Given the description of an element on the screen output the (x, y) to click on. 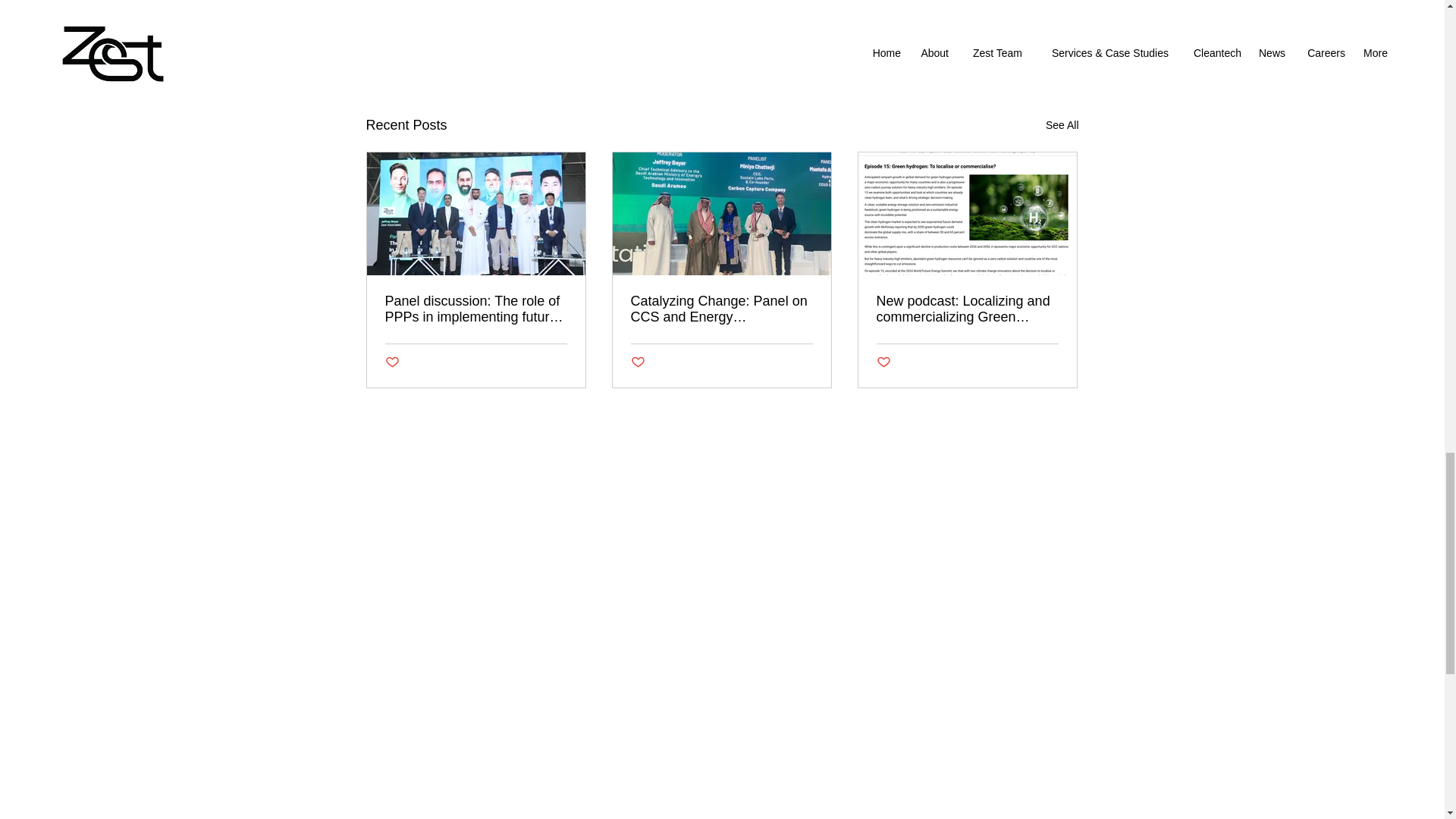
Post not marked as liked (391, 362)
New podcast: Localizing and commercializing Green Hydrogen (967, 309)
Post not marked as liked (637, 362)
Post not marked as liked (995, 42)
See All (1061, 125)
Catalyzing Change: Panel on CCS and Energy Sustainability (721, 309)
